Given the description of an element on the screen output the (x, y) to click on. 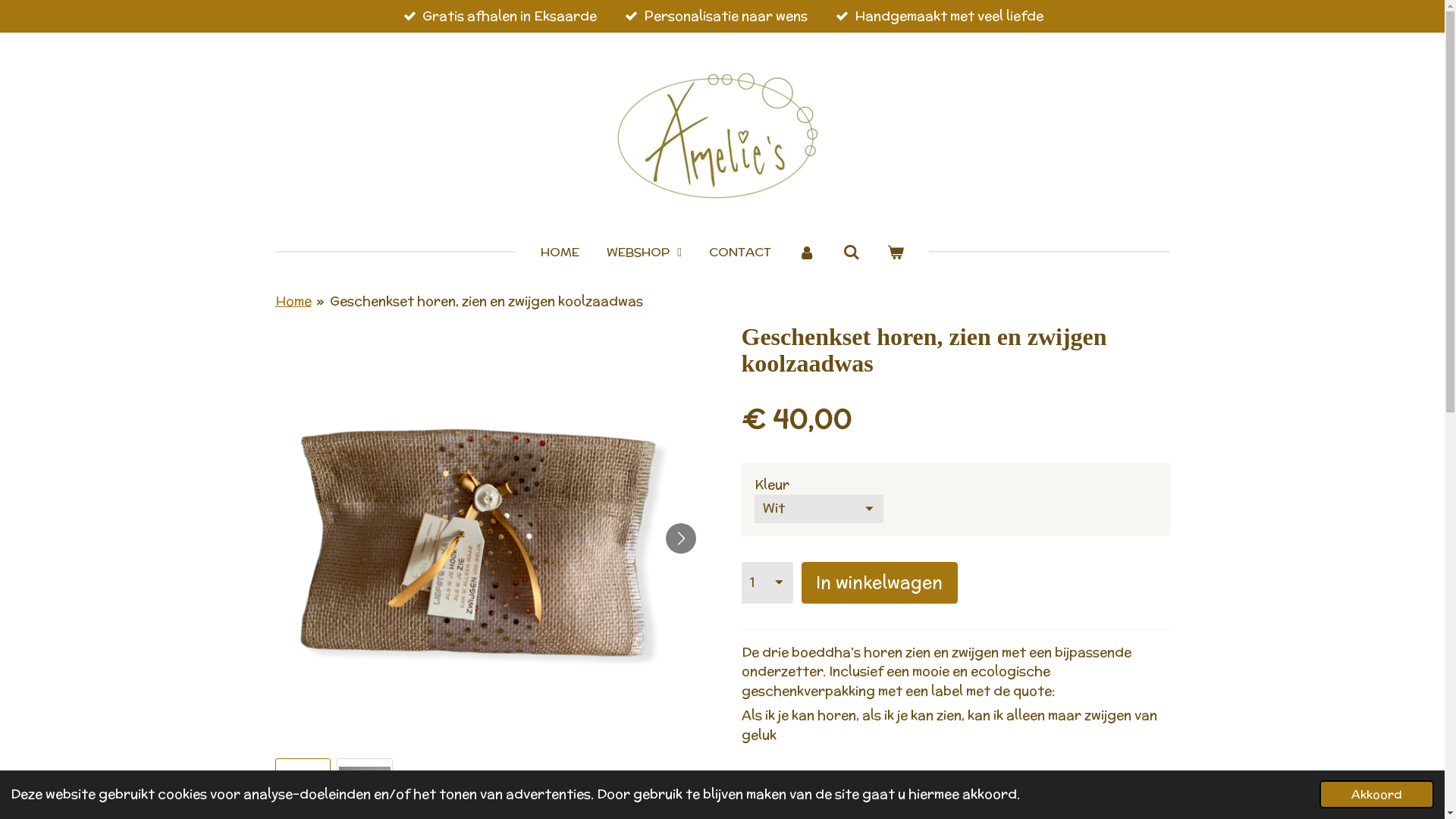
Amelie's Element type: hover (721, 134)
In winkelwagen Element type: text (879, 582)
Akkoord Element type: text (1376, 794)
Zoeken Element type: hover (850, 252)
Bekijk winkelwagen Element type: hover (895, 252)
WEBSHOP Element type: text (643, 252)
Geschenkset horen, zien en zwijgen koolzaadwas Element type: text (486, 300)
HOME Element type: text (559, 252)
Home Element type: text (292, 300)
CONTACT Element type: text (740, 252)
Account Element type: hover (806, 252)
